Given the description of an element on the screen output the (x, y) to click on. 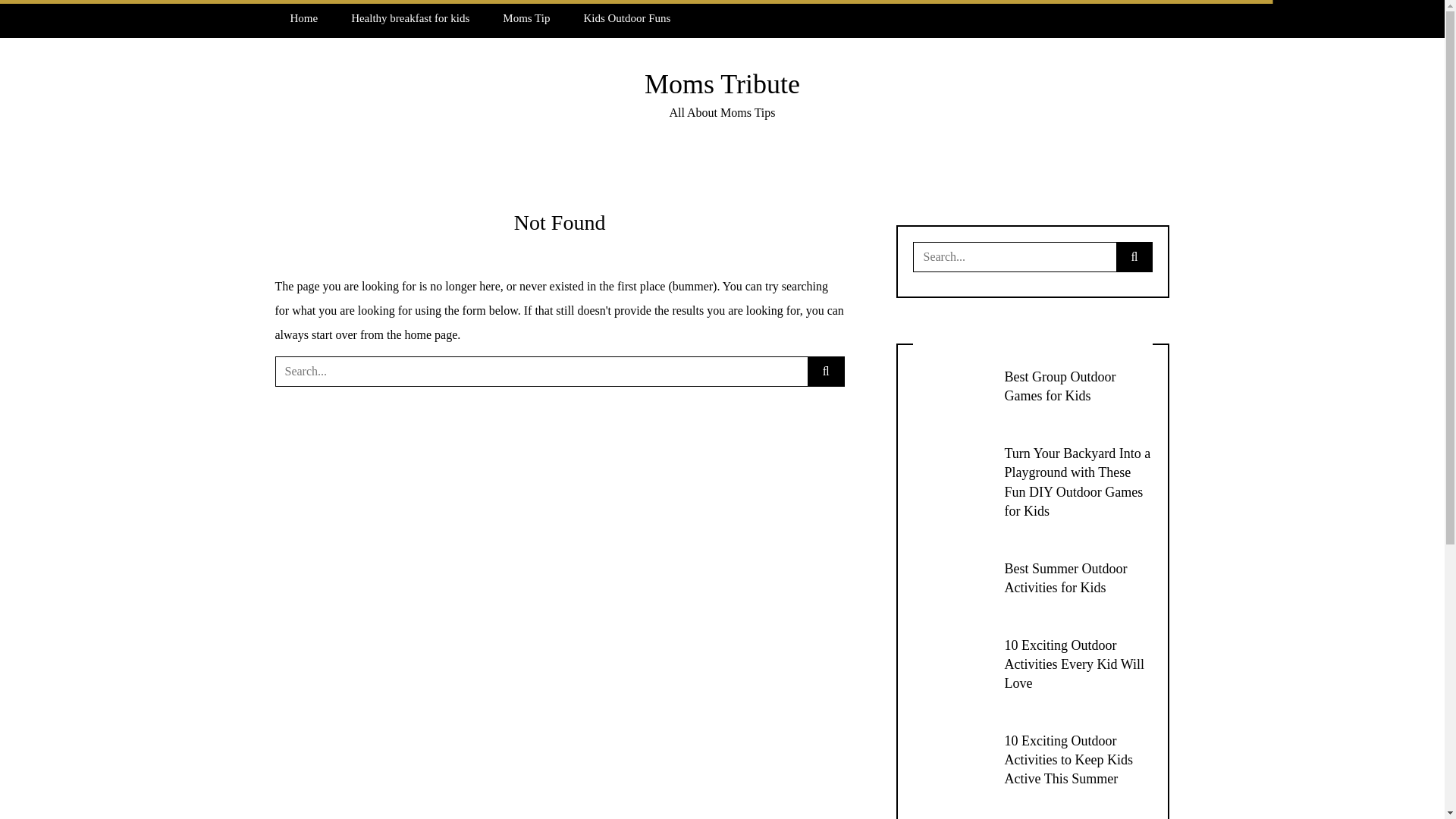
Best Summer Outdoor Activities for Kids (1065, 578)
Kids Outdoor Funs (626, 18)
Moms Tip (525, 18)
Best Group Outdoor Games for Kids (1059, 386)
Search (35, 16)
Permalink to Best Summer Outdoor Activities for Kids (1065, 578)
Moms Tribute (722, 83)
10 Exciting Outdoor Activities Every Kid Will Love (1073, 664)
